Given the description of an element on the screen output the (x, y) to click on. 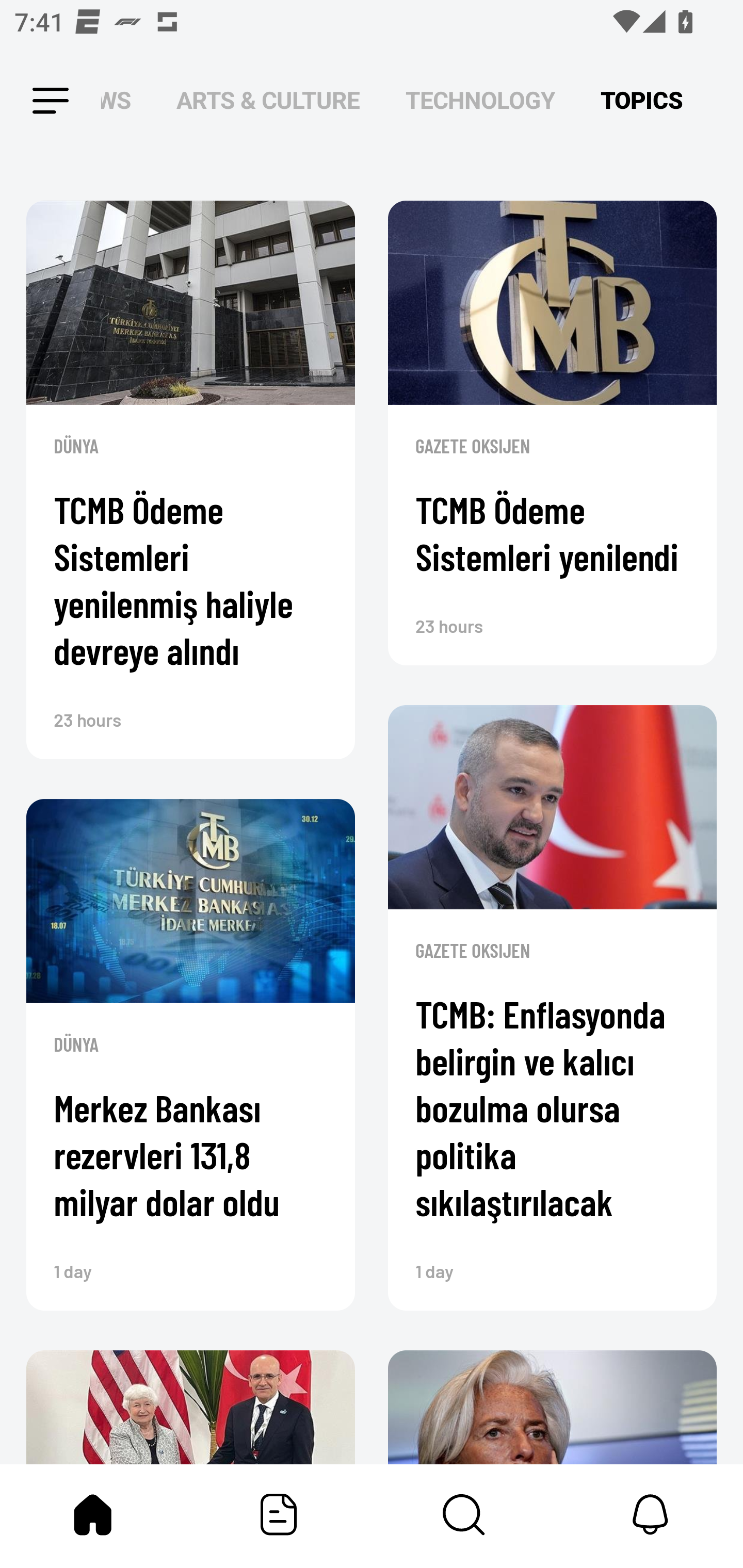
NEWS (121, 100)
ARTS & CULTURE (268, 100)
TECHNOLOGY (480, 100)
Featured (278, 1514)
Content Store (464, 1514)
Notifications (650, 1514)
